Given the description of an element on the screen output the (x, y) to click on. 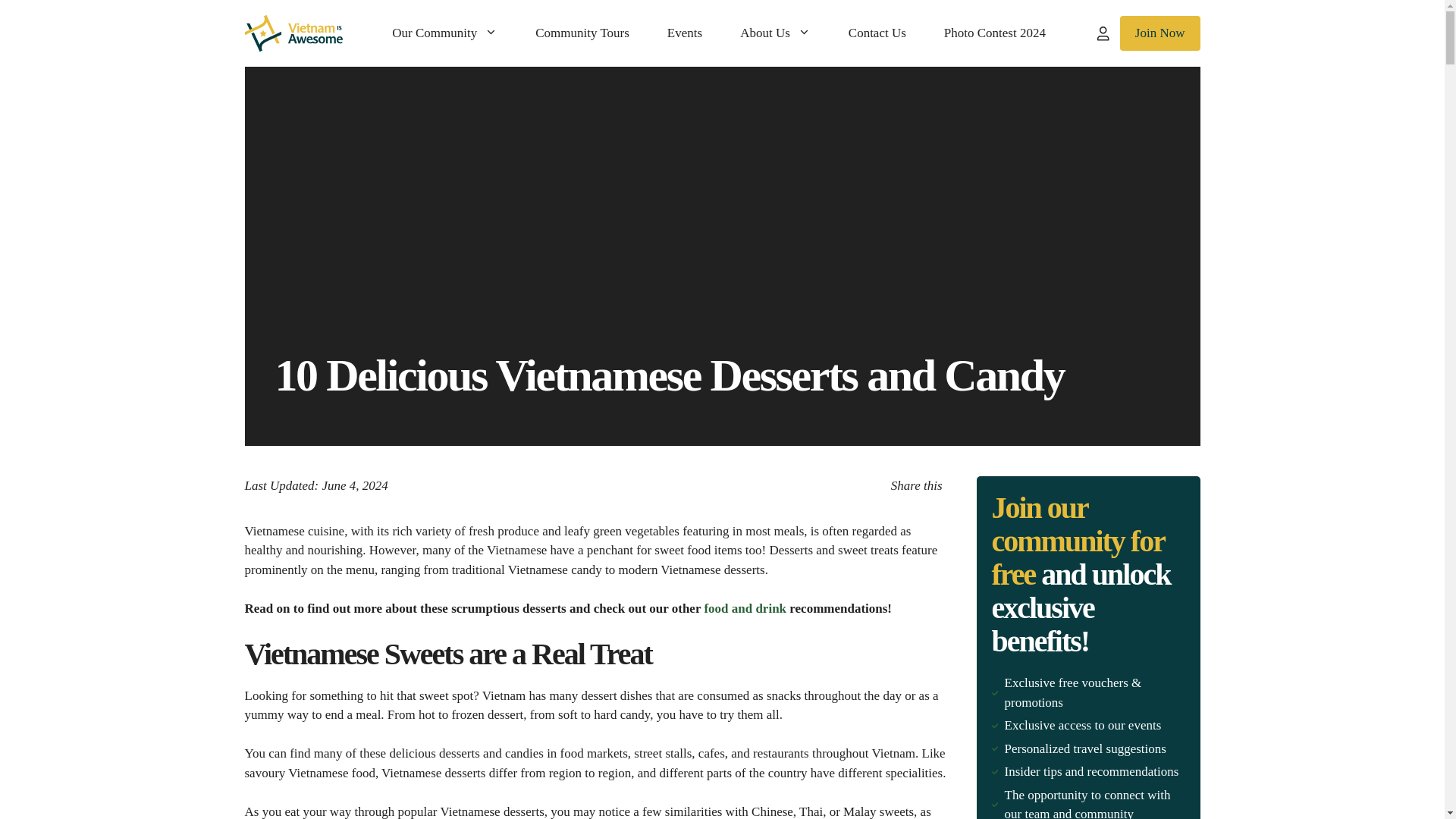
Photo Contest 2024 (994, 33)
Events (683, 33)
Join Now (1159, 32)
Community Tours (581, 33)
Our Community (444, 33)
Contact Us (876, 33)
About Us (774, 33)
